Given the description of an element on the screen output the (x, y) to click on. 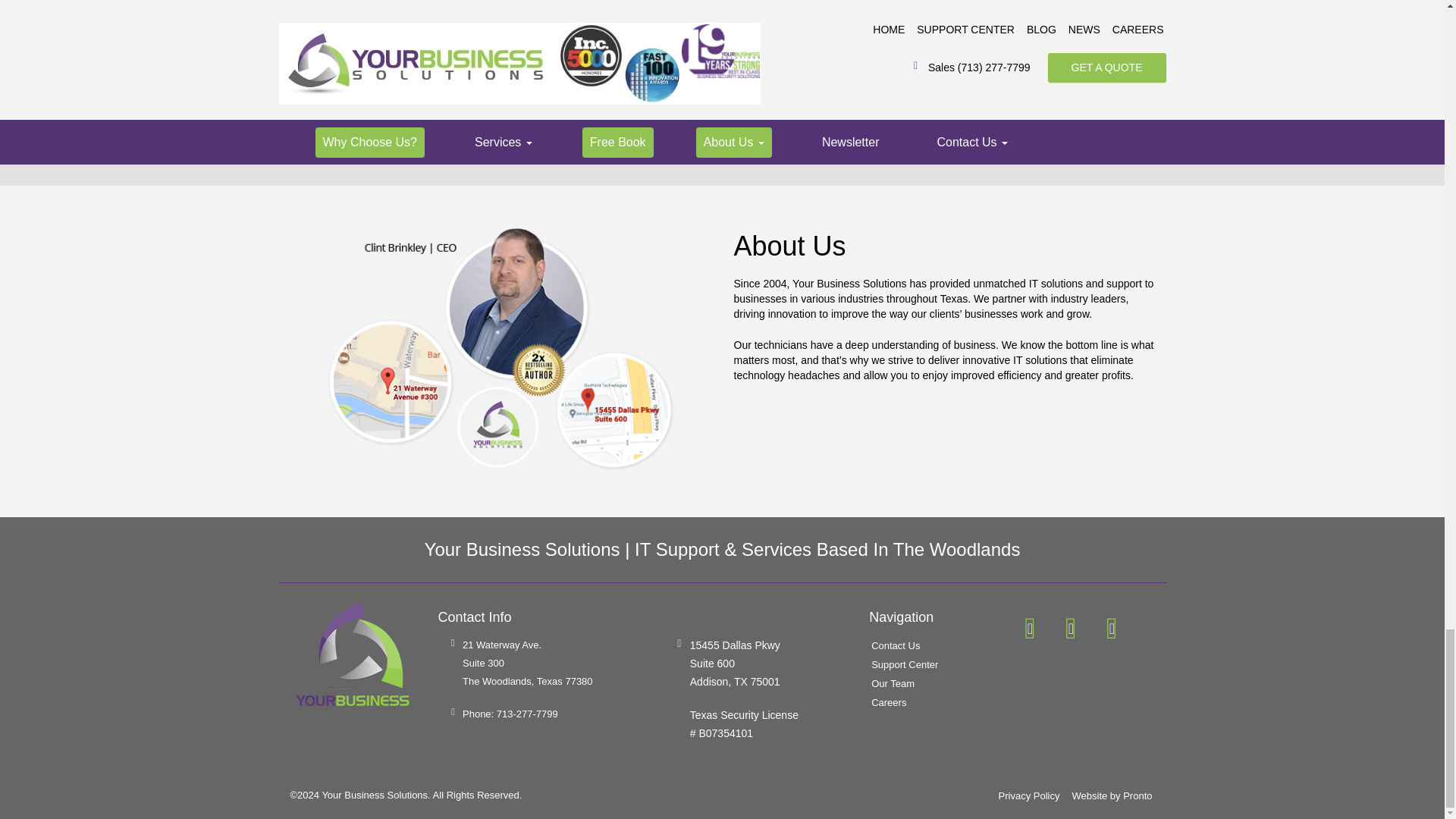
GET MY FREE COPY (823, 118)
